Given the description of an element on the screen output the (x, y) to click on. 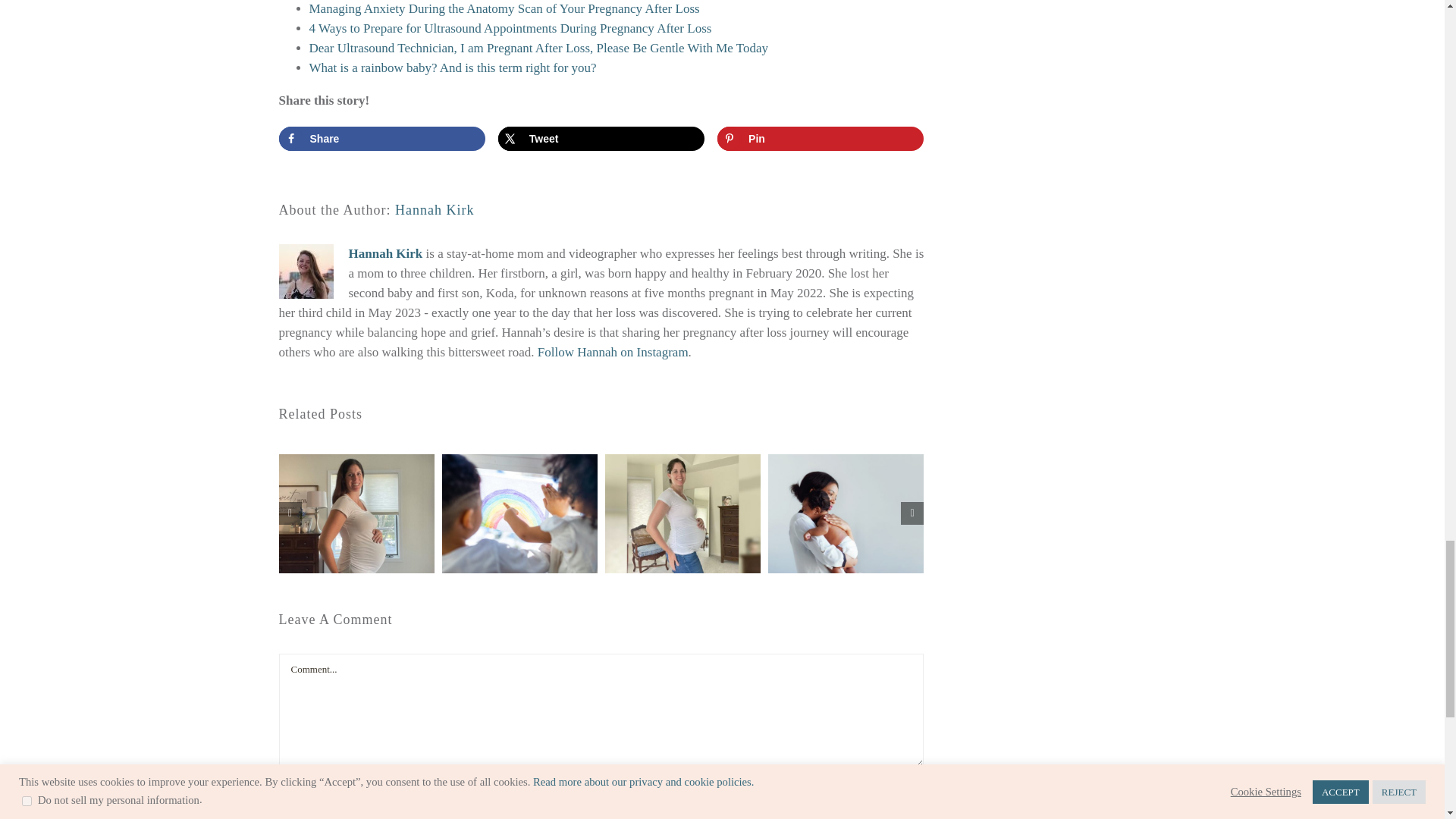
Save to Pinterest (820, 138)
Share on Facebook (381, 138)
Posts by Hannah Kirk (434, 209)
Share on X (600, 138)
